Given the description of an element on the screen output the (x, y) to click on. 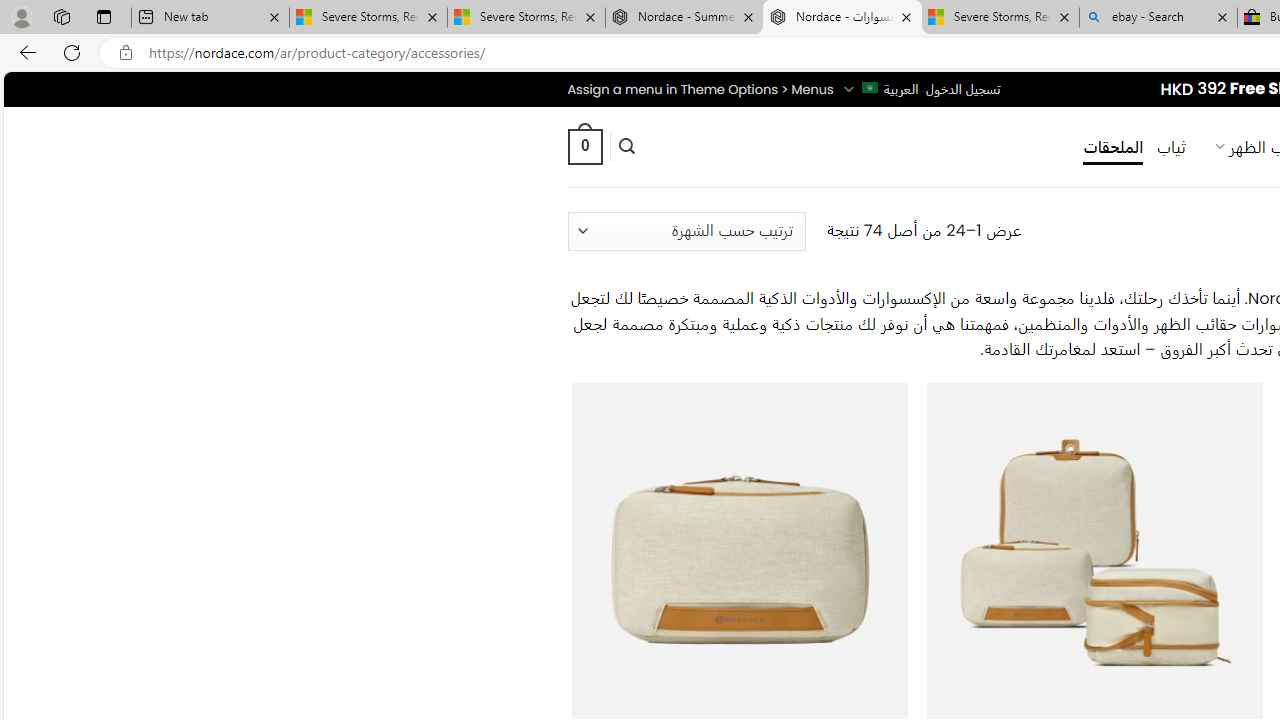
  0   (584, 146)
Personal Profile (21, 16)
Nordace - Summer Adventures 2024 (683, 17)
Assign a menu in Theme Options > Menus (700, 89)
 0  (584, 146)
Close tab (1222, 16)
Refresh (72, 52)
Tab actions menu (104, 16)
Back (24, 52)
New tab (210, 17)
